Given the description of an element on the screen output the (x, y) to click on. 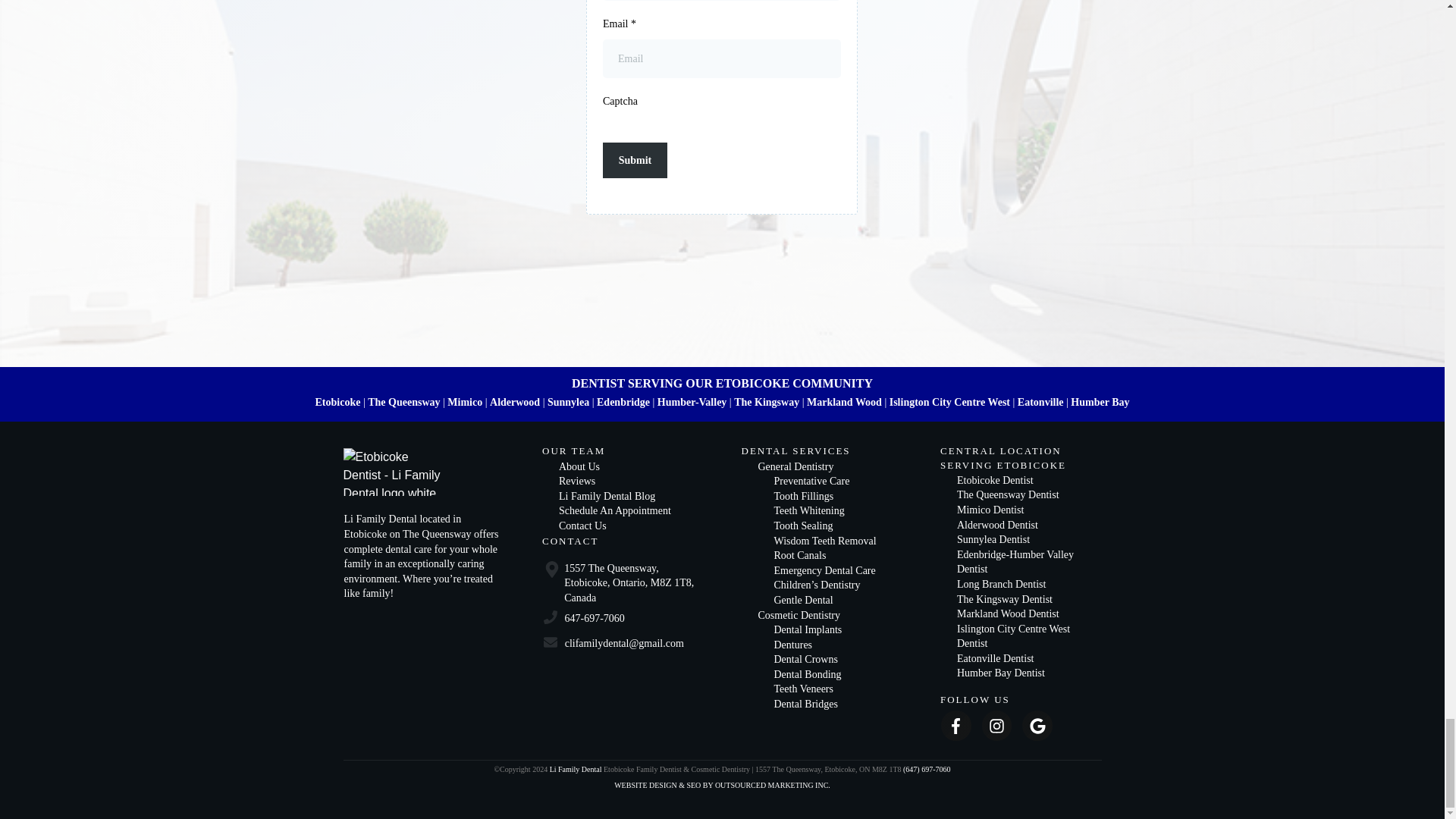
logo-white (394, 471)
